Given the description of an element on the screen output the (x, y) to click on. 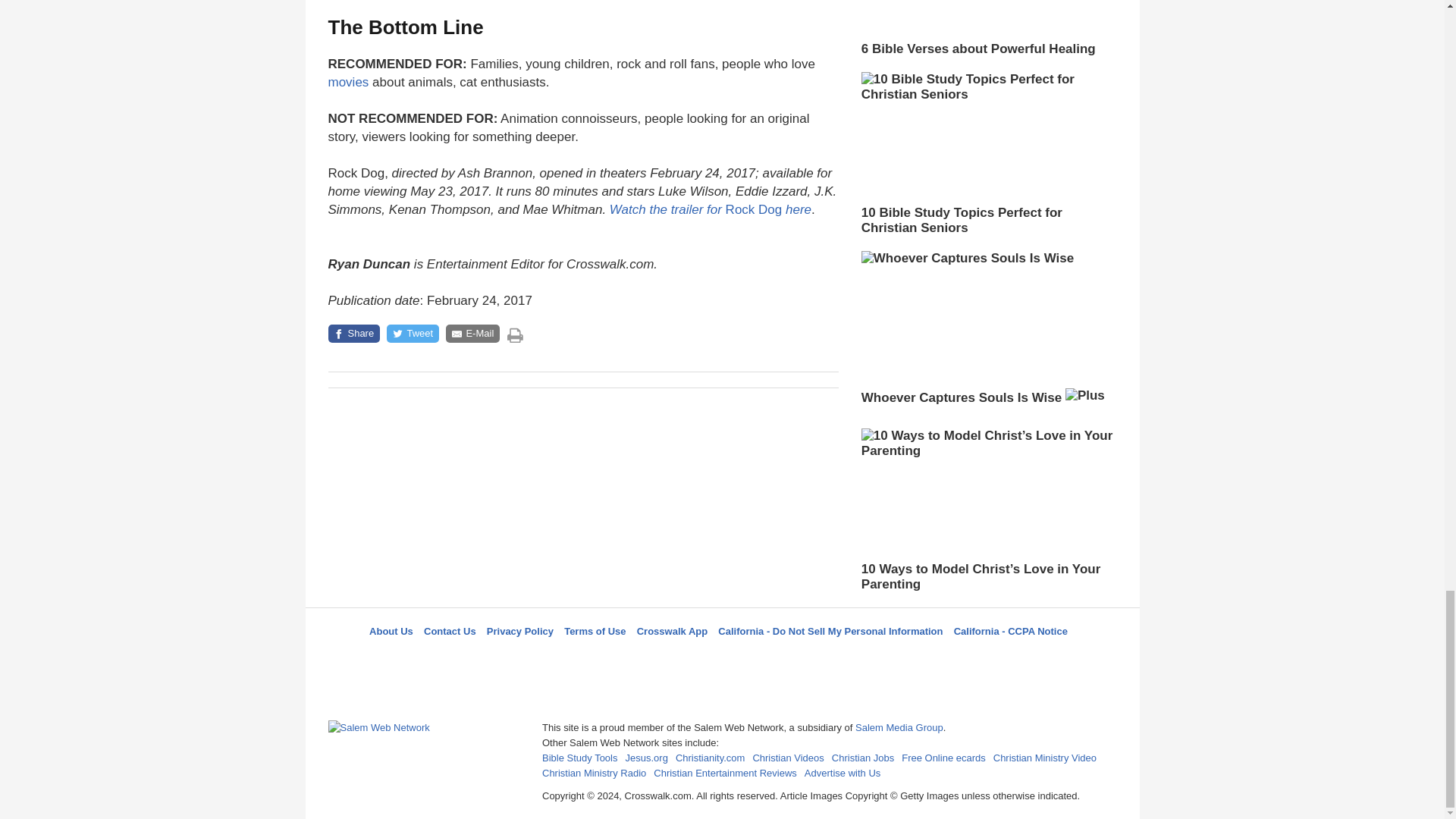
LifeAudio (719, 658)
Facebook (645, 658)
Pinterest (757, 658)
YouTube (795, 658)
Twitter (683, 658)
